Given the description of an element on the screen output the (x, y) to click on. 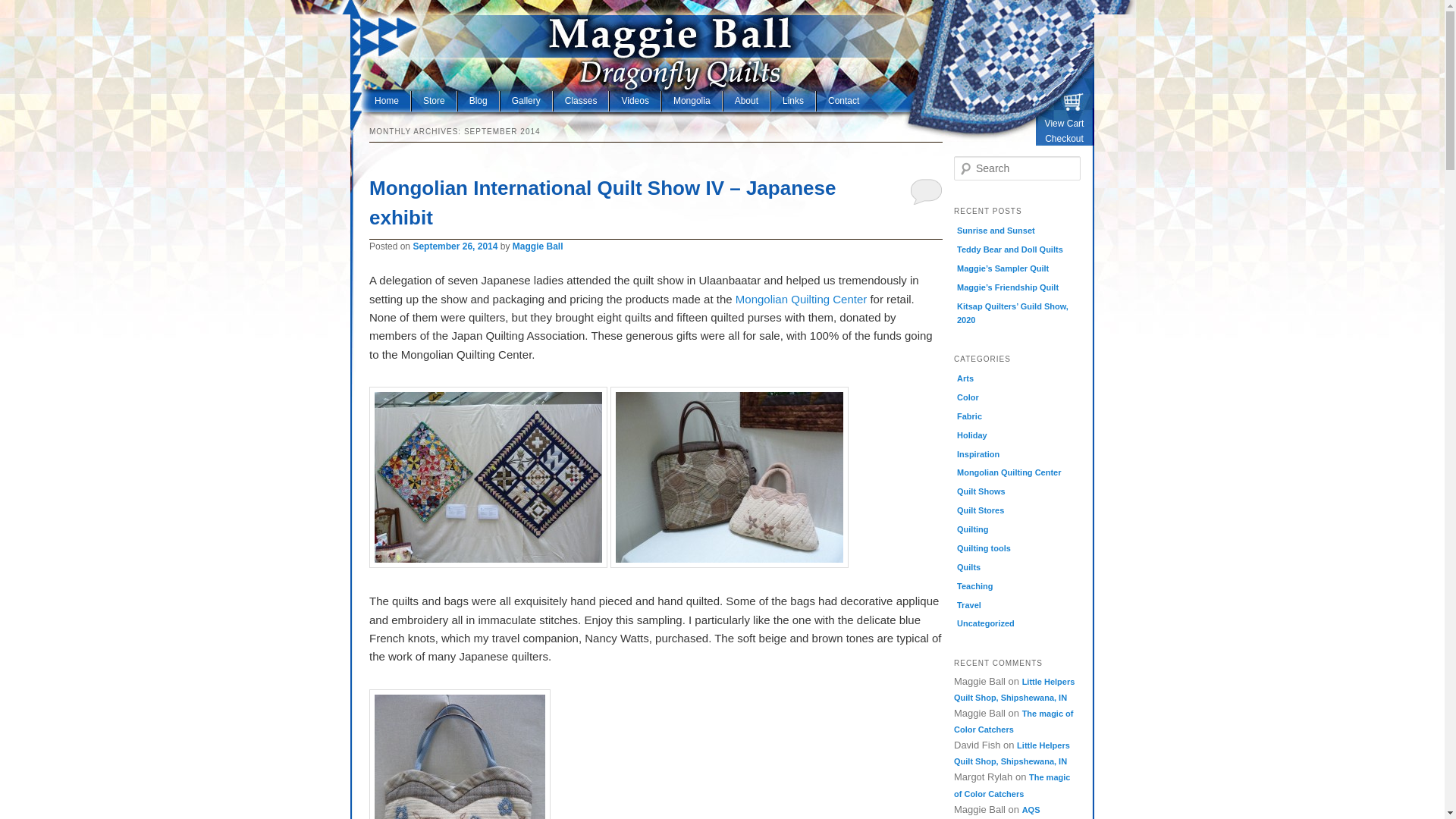
Videos (635, 100)
Gallery (526, 100)
Mongolia (692, 100)
12:39 pm (454, 245)
Checkout (1064, 139)
Store (434, 100)
View Cart (1064, 124)
View all posts by Maggie Ball (537, 245)
Blog (478, 100)
Links (793, 100)
